Given the description of an element on the screen output the (x, y) to click on. 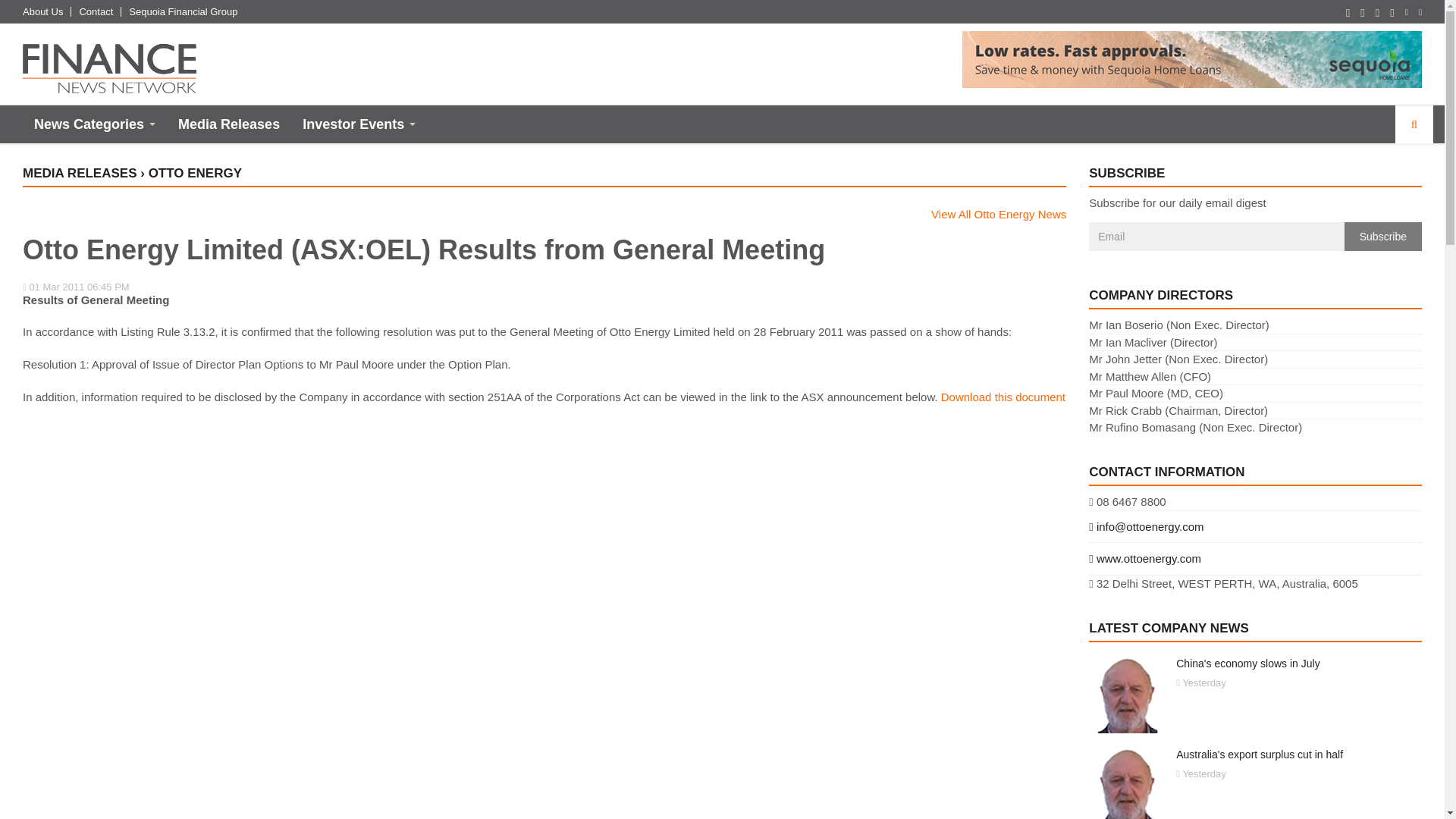
Subscribe (1382, 235)
Australia's export surplus cut in half (1259, 754)
MEDIA RELEASES (79, 173)
Sequoia Financial Group (183, 11)
www.ottoenergy.com (1255, 558)
About Us (42, 11)
China's economy slows in July (1247, 663)
Download this document (1002, 396)
OTTO ENERGY (194, 173)
Media Releases (229, 124)
